Given the description of an element on the screen output the (x, y) to click on. 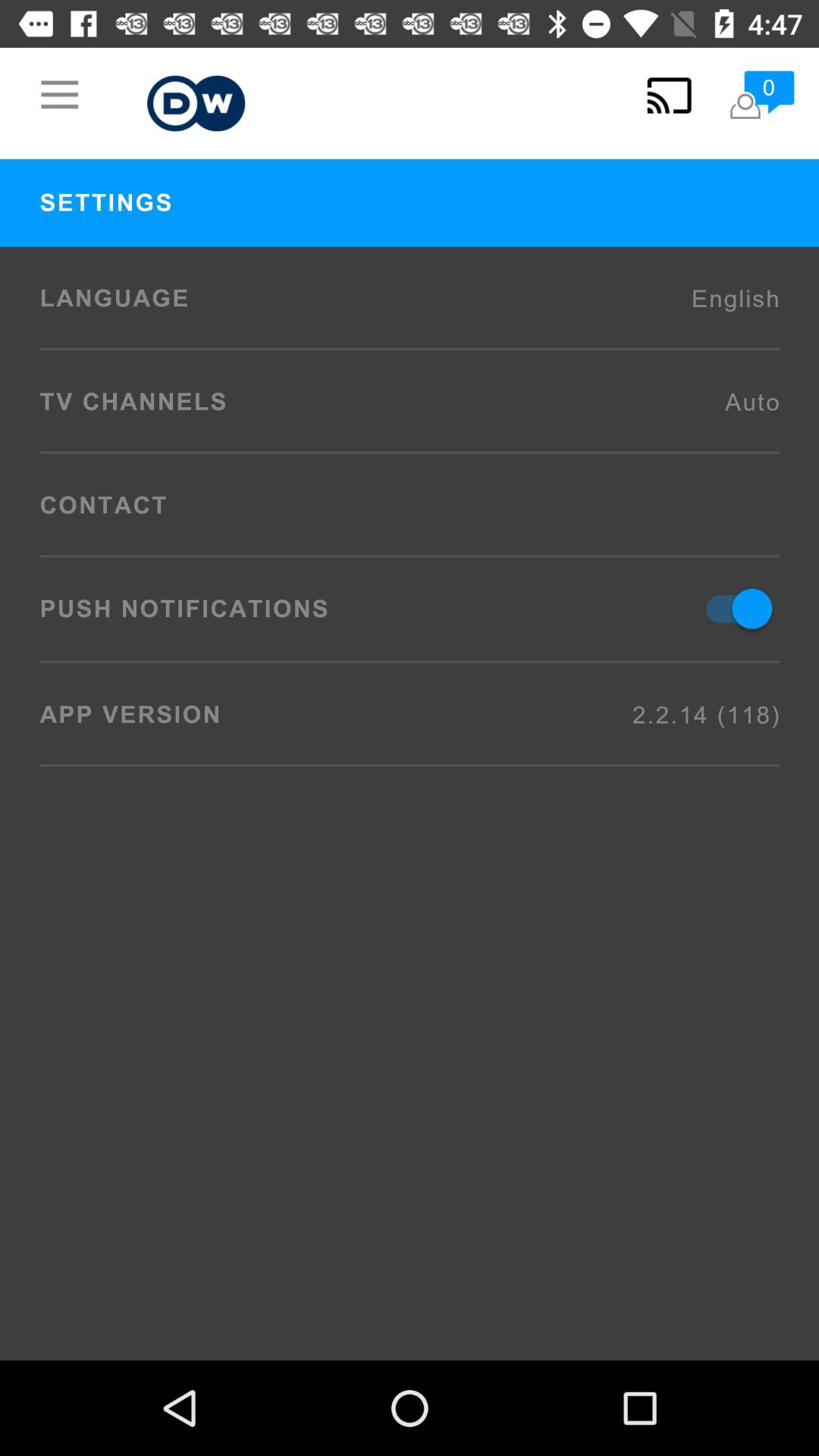
select the 0 icon (760, 95)
